Given the description of an element on the screen output the (x, y) to click on. 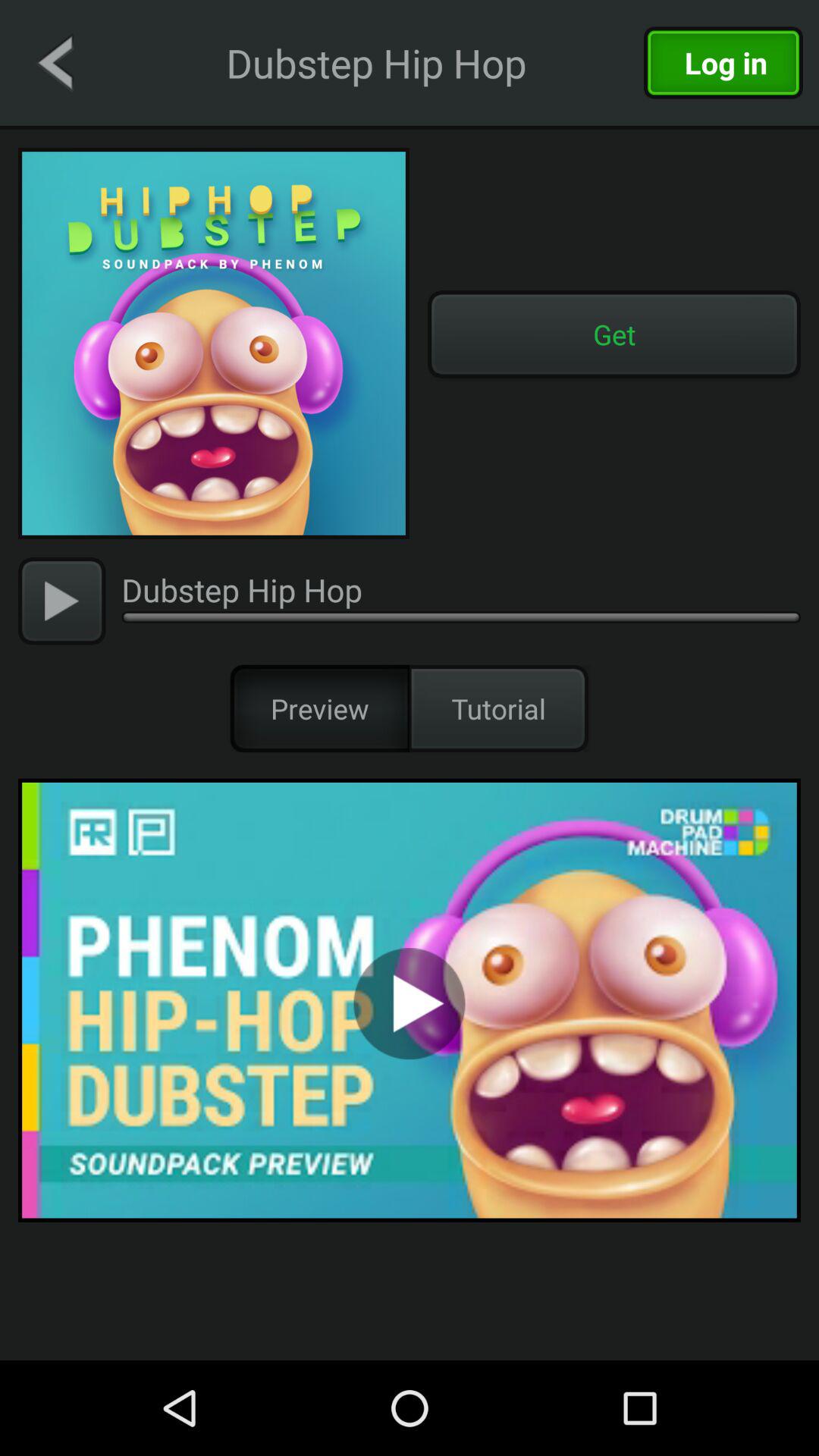
play (61, 600)
